Given the description of an element on the screen output the (x, y) to click on. 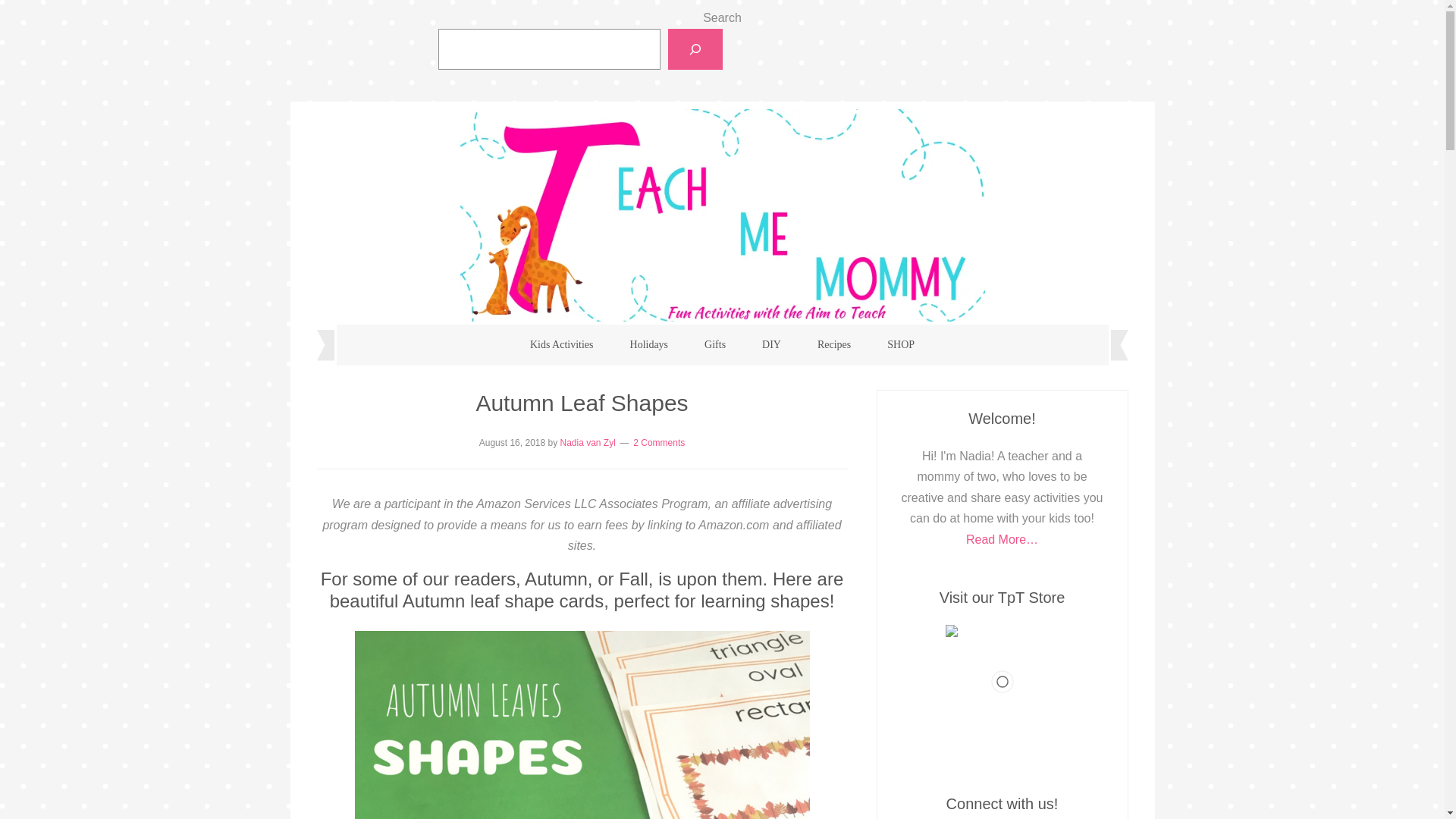
Gifts (714, 344)
SHOP (901, 344)
Holidays (649, 344)
Recipes (834, 344)
Kids Activities (561, 344)
Nadia van Zyl (586, 442)
DIY (771, 344)
2 Comments (658, 442)
